Given the description of an element on the screen output the (x, y) to click on. 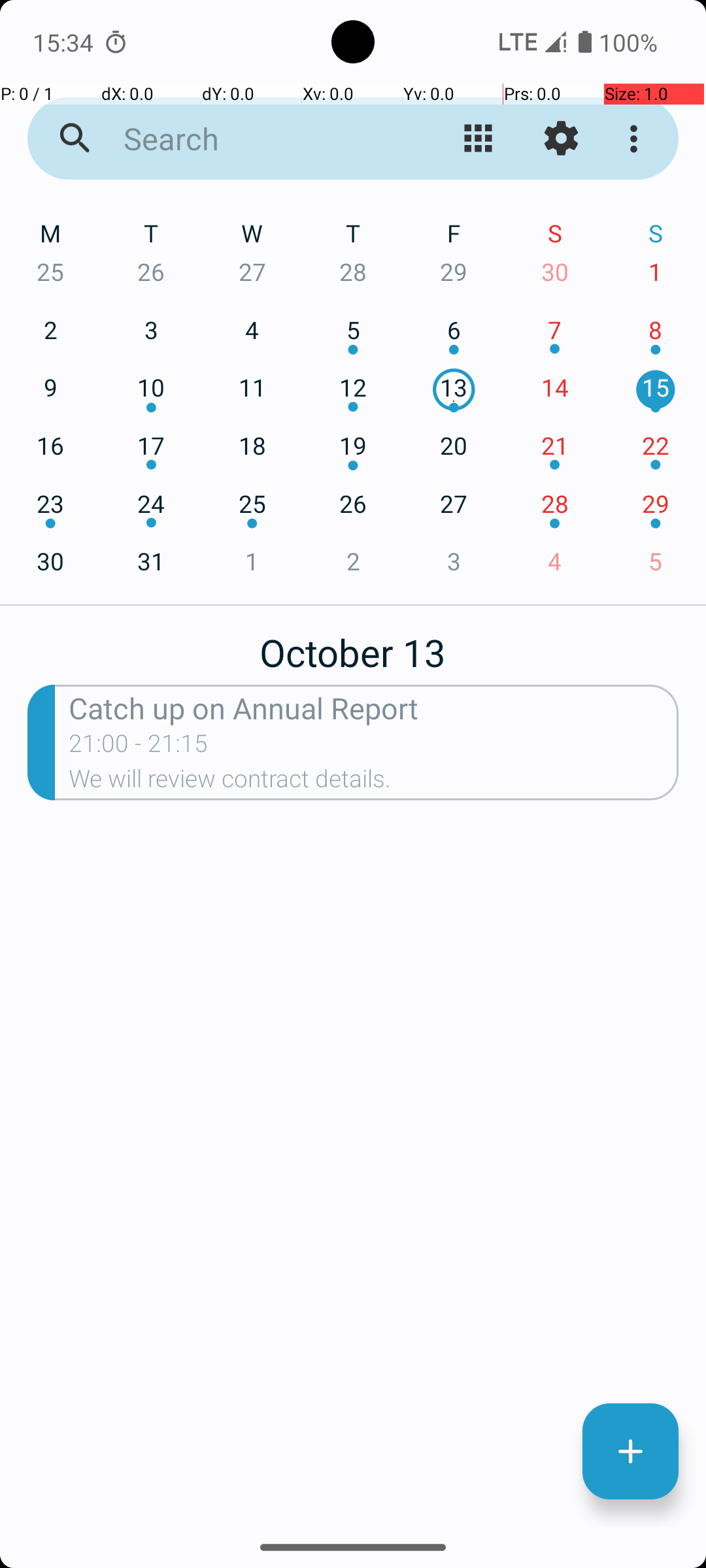
October 13 Element type: android.widget.TextView (352, 644)
21:00 - 21:15 Element type: android.widget.TextView (137, 747)
We will review contract details. Element type: android.widget.TextView (373, 782)
